Given the description of an element on the screen output the (x, y) to click on. 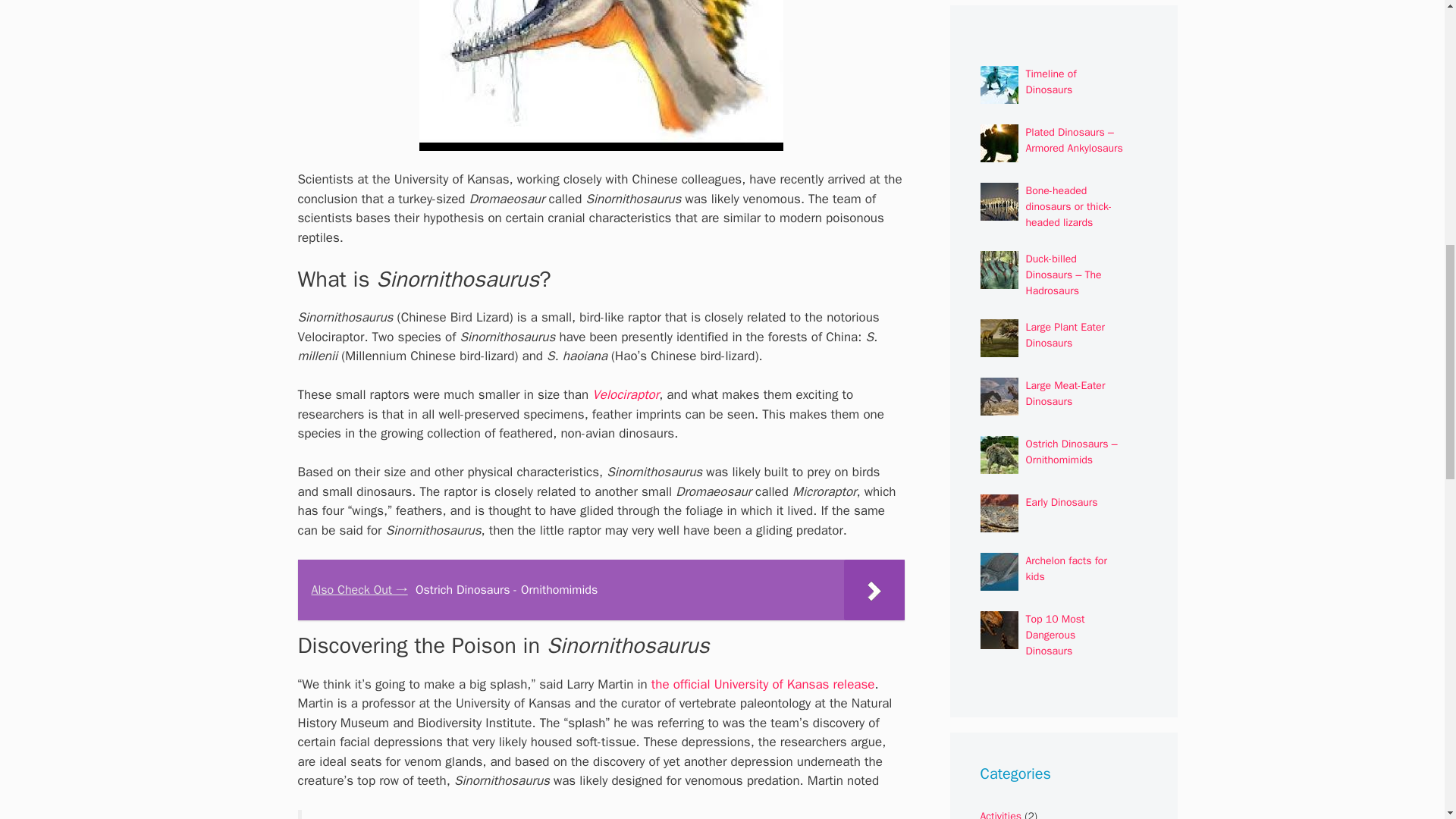
the official University of Kansas release (762, 684)
Timeline of Dinosaurs (1050, 81)
Velociraptor (625, 394)
Large Plant Eater Dinosaurs (1065, 335)
Bone-headed dinosaurs or thick-headed lizards (1068, 206)
Large Meat-Eater Dinosaurs (1065, 393)
